Given the description of an element on the screen output the (x, y) to click on. 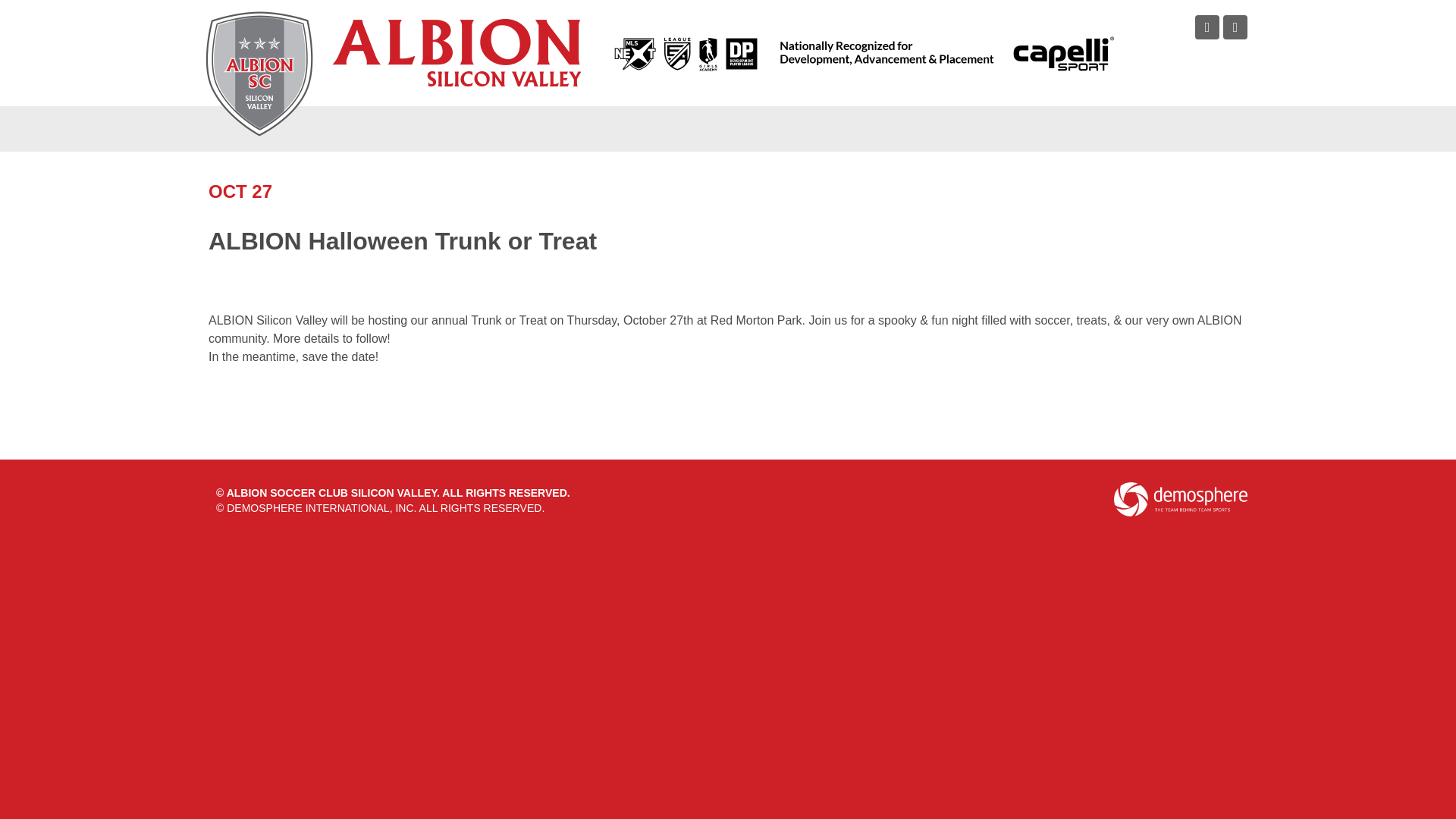
DEMOSPHERE INTERNATIONAL, INC. (321, 508)
OCT 27 (240, 190)
